Given the description of an element on the screen output the (x, y) to click on. 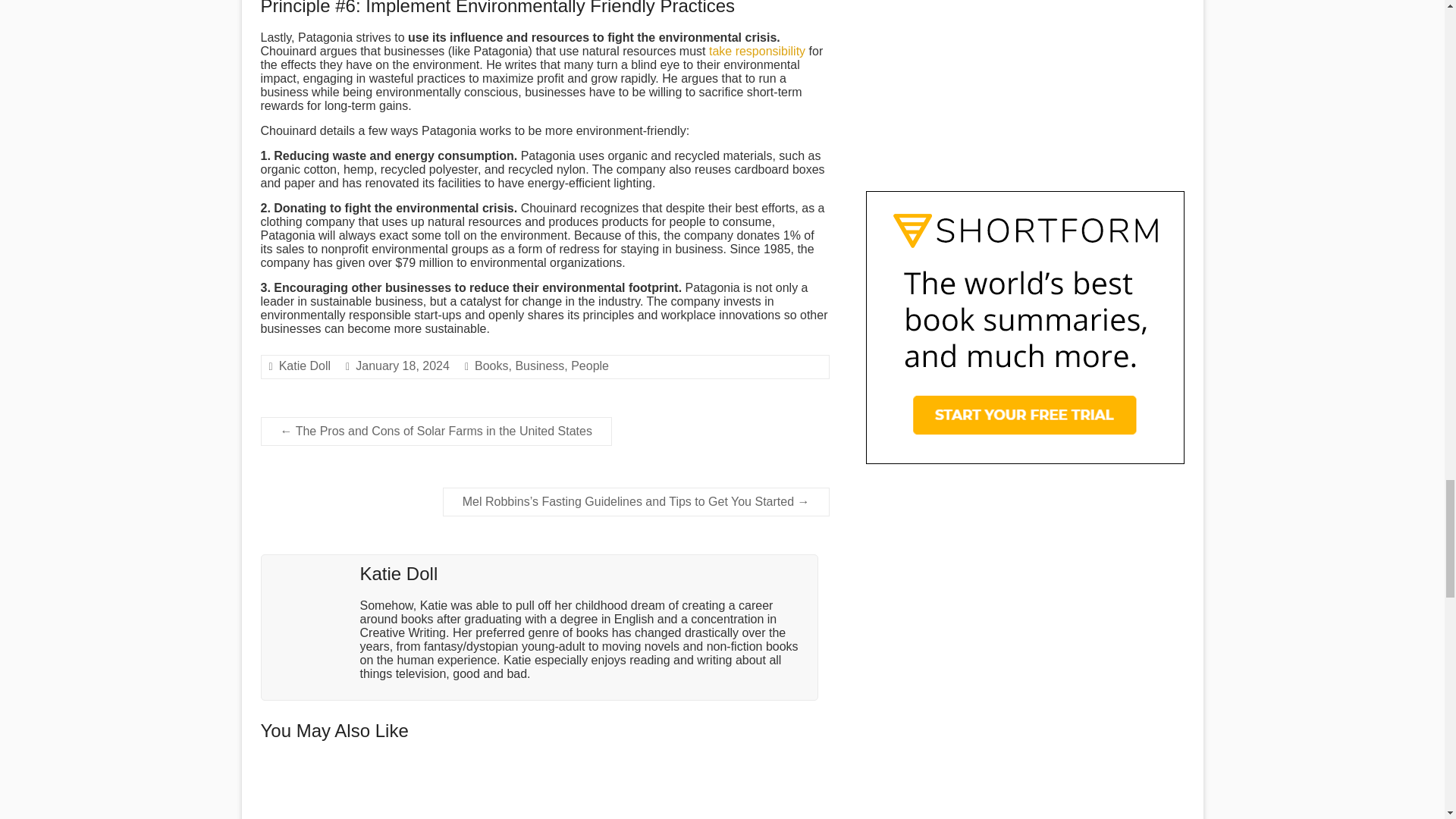
Brand Visibility: Awareness Leads to Customers (743, 771)
How Elon Musk Learns Faster Than Everyone Else (545, 791)
Business (539, 365)
take responsibility (757, 51)
Brand Visibility: Awareness Leads to Customers (743, 791)
What Is the Power Law? Peter Thiel Explains (345, 771)
What Is the Power Law? Peter Thiel Explains (345, 791)
10:48 am (402, 365)
How Elon Musk Learns Faster Than Everyone Else (545, 771)
Books (491, 365)
People (589, 365)
Katie Doll (304, 365)
January 18, 2024 (402, 365)
